Given the description of an element on the screen output the (x, y) to click on. 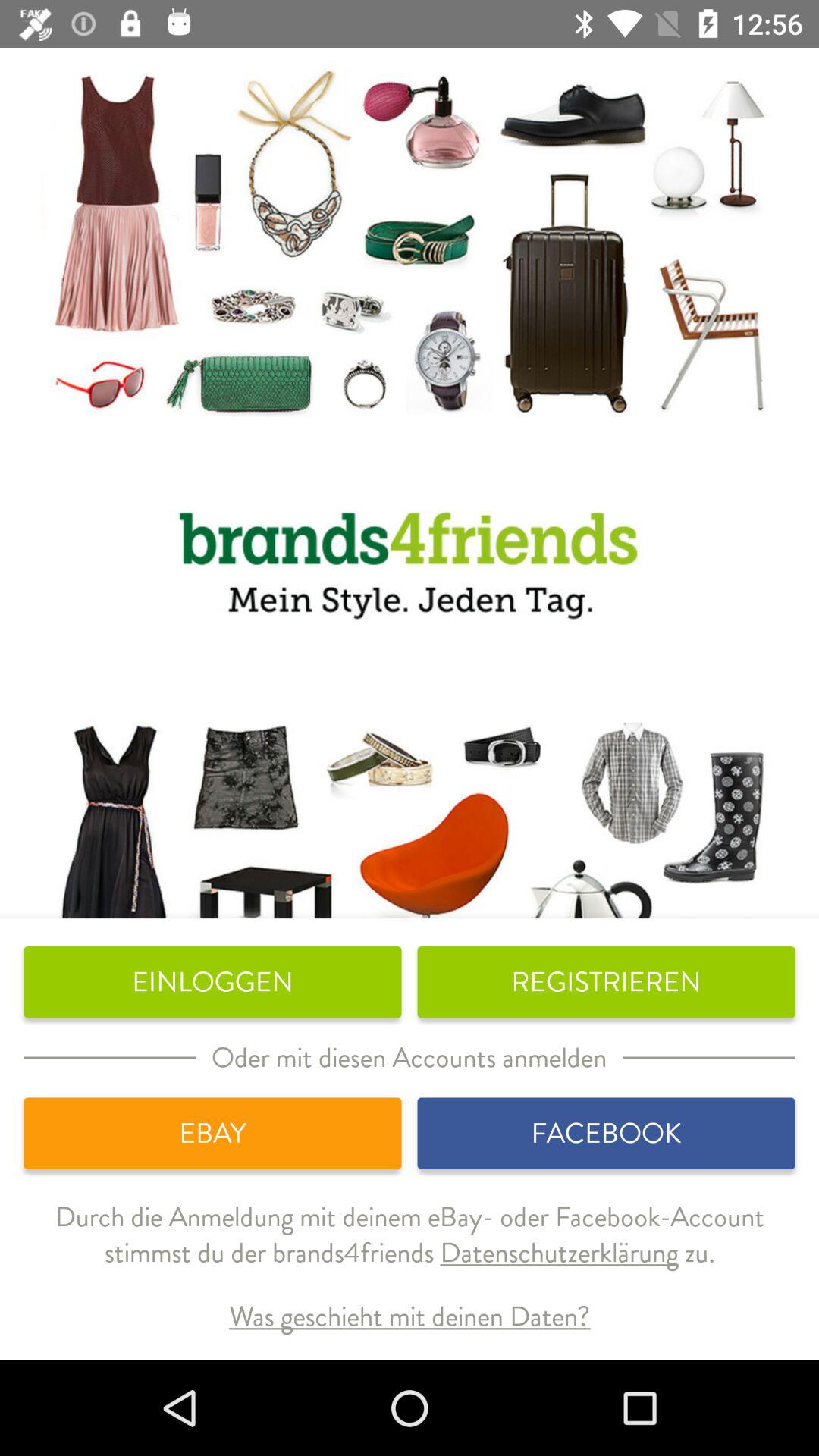
turn off icon above the was geschieht mit (409, 1246)
